Given the description of an element on the screen output the (x, y) to click on. 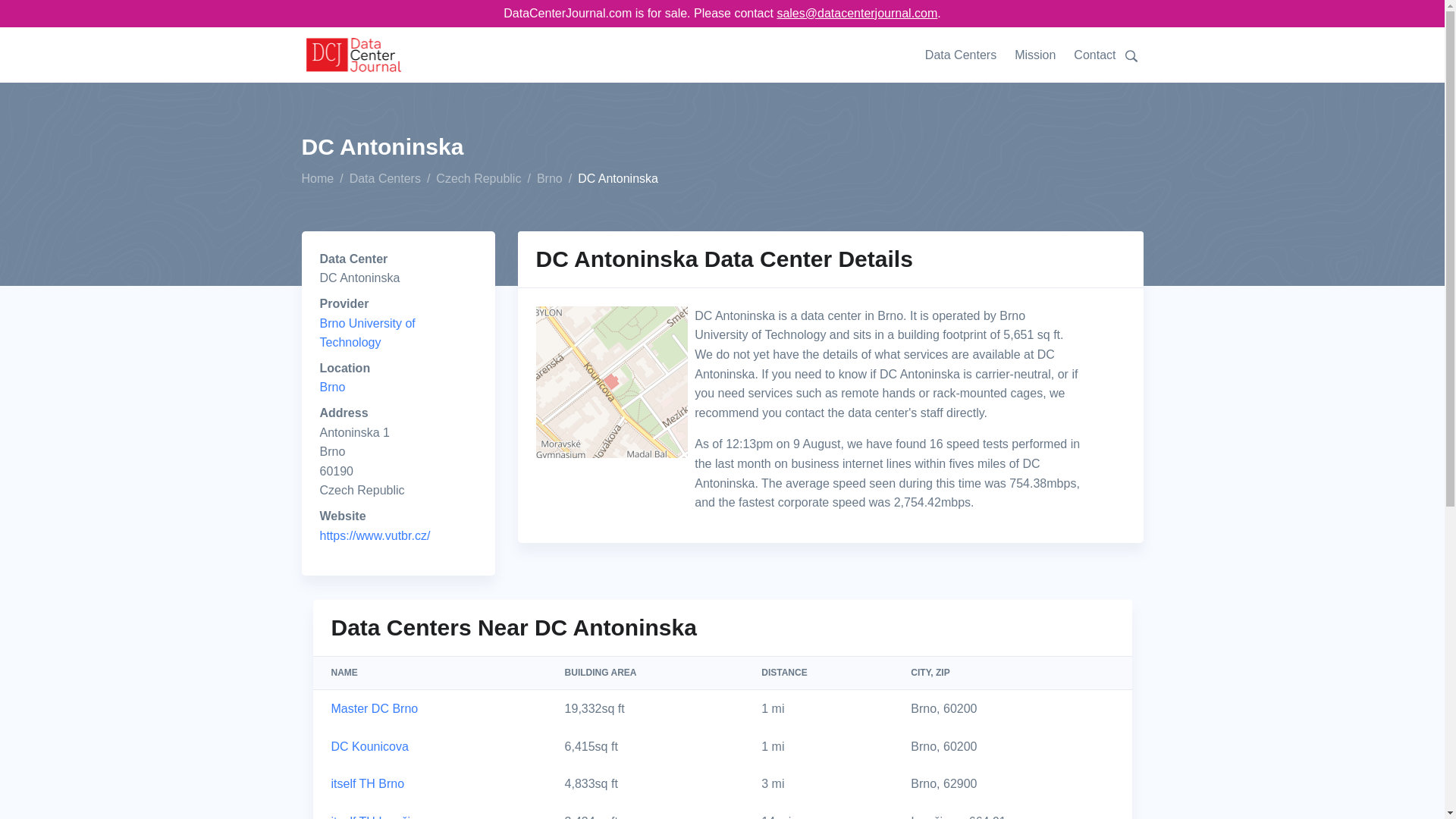
Mission (1035, 55)
Czech Republic (478, 178)
Data Centers (384, 178)
DC Kounicova (368, 746)
itself TH Brno (367, 783)
Brno (549, 178)
Data Centers (965, 55)
Contact (1094, 55)
Brno (333, 386)
Master DC Brno (373, 707)
